Given the description of an element on the screen output the (x, y) to click on. 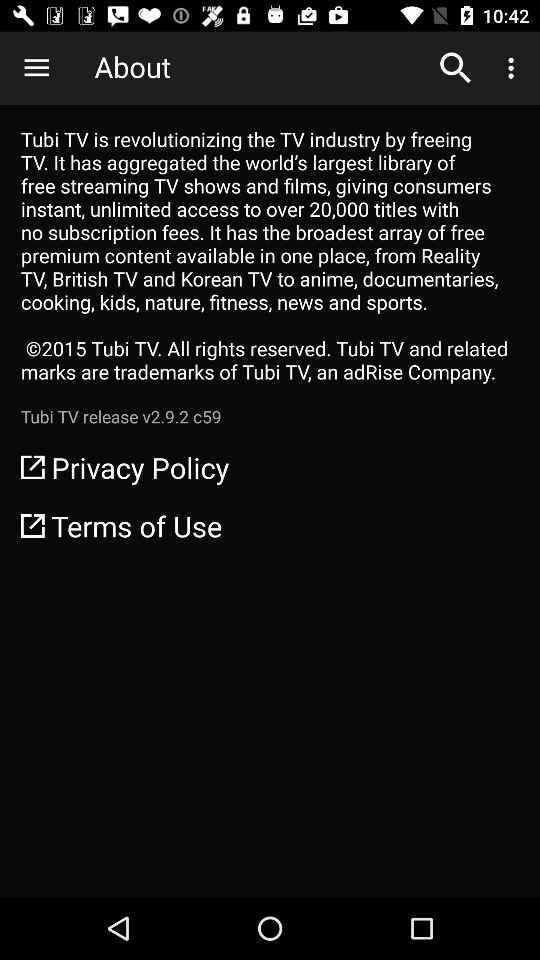
flip until privacy policy icon (270, 467)
